Given the description of an element on the screen output the (x, y) to click on. 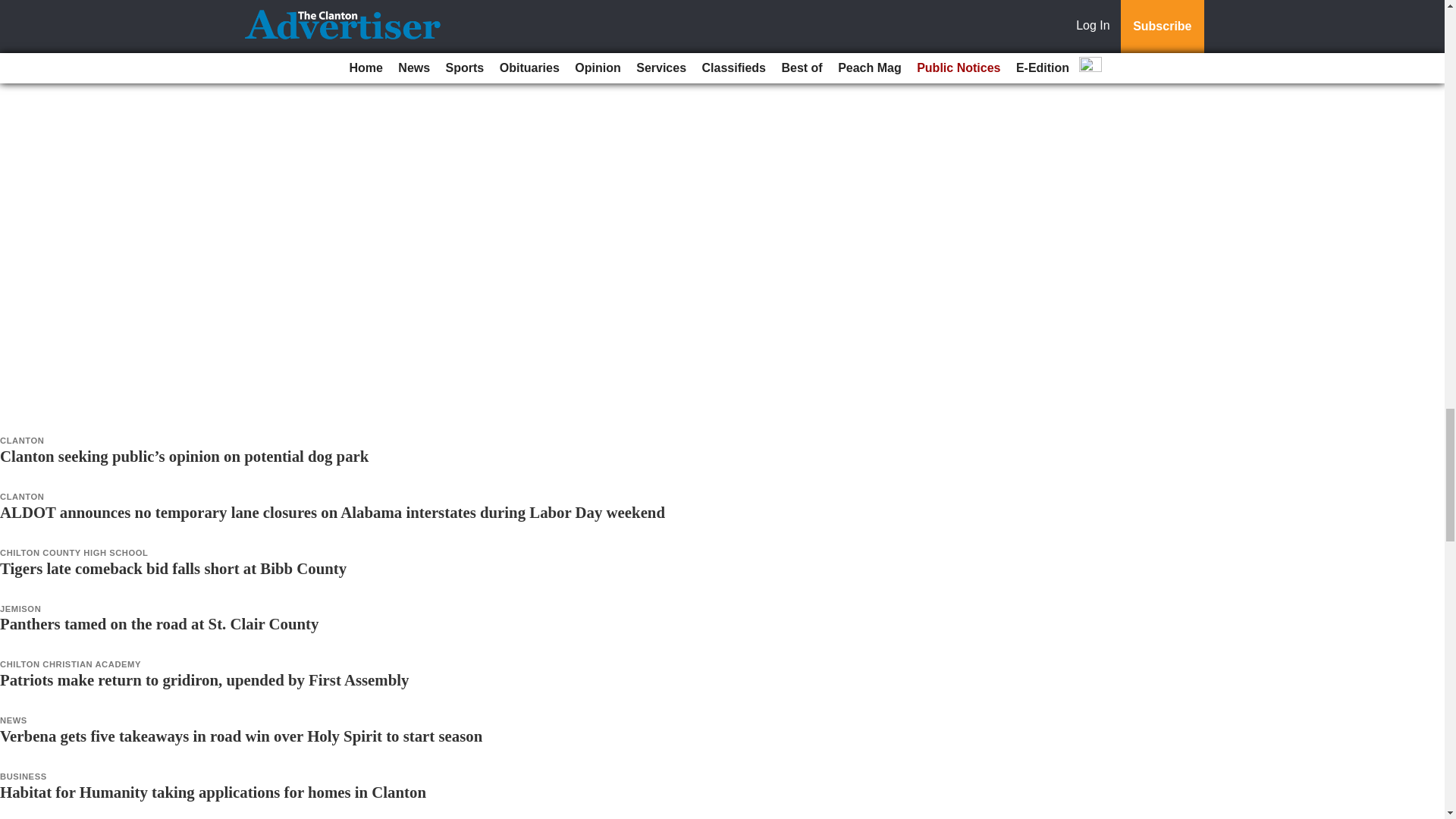
Panthers tamed on the road at St. Clair County (159, 623)
Tigers late comeback bid falls short at Bibb County (173, 568)
Tigers late comeback bid falls short at Bibb County (173, 568)
Panthers tamed on the road at St. Clair County (159, 623)
